Given the description of an element on the screen output the (x, y) to click on. 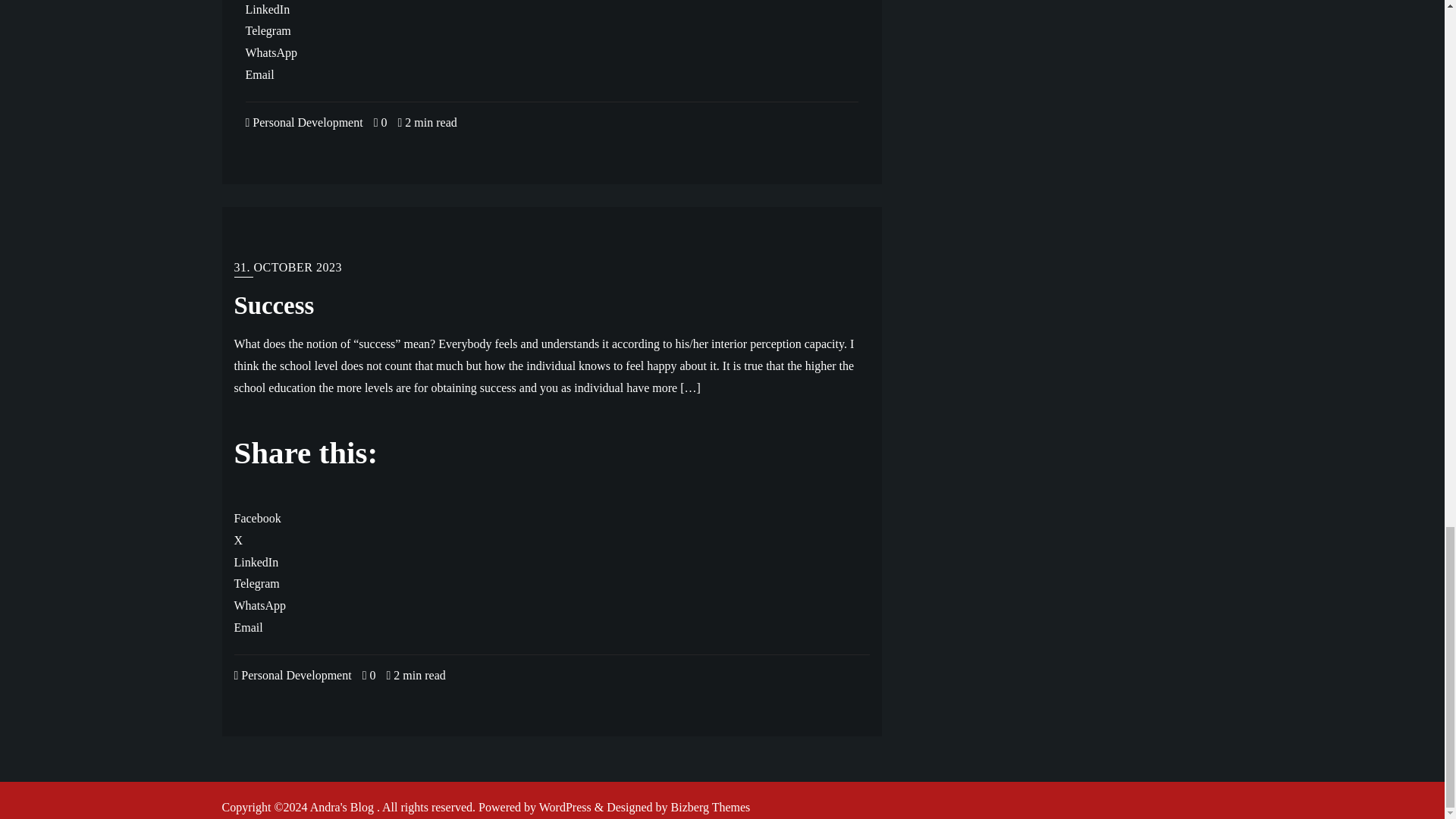
Email (260, 74)
0 (380, 122)
Telegram (268, 30)
LinkedIn (267, 9)
Click to share on LinkedIn (267, 9)
Personal Development (304, 122)
WhatsApp (271, 51)
